Given the description of an element on the screen output the (x, y) to click on. 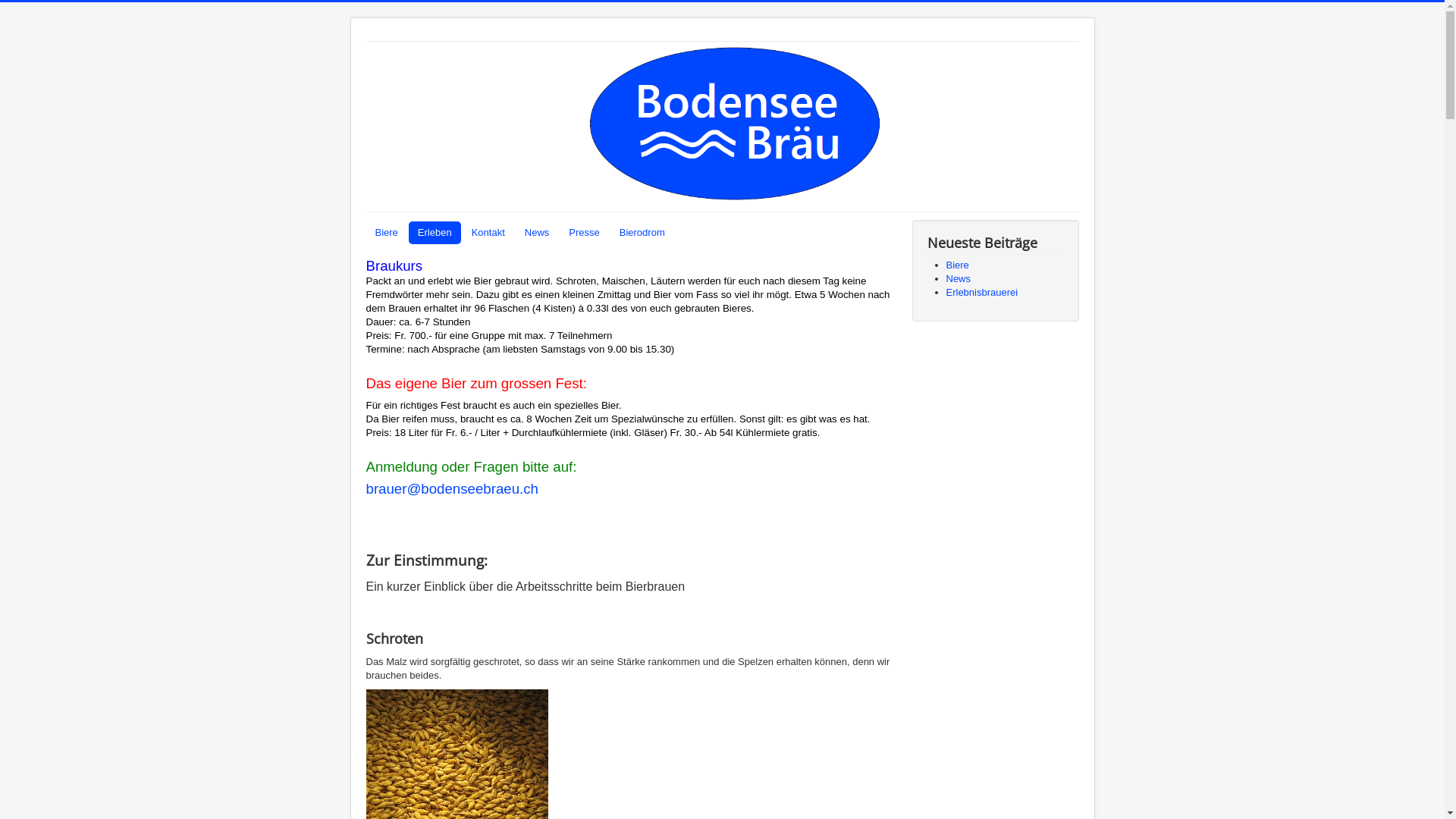
News Element type: text (958, 278)
Erleben Element type: text (434, 232)
Presse Element type: text (583, 232)
Erlebnisbrauerei Element type: text (982, 292)
Biere Element type: text (385, 232)
Bierodrom Element type: text (642, 232)
Kontakt Element type: text (488, 232)
Biere Element type: text (957, 264)
brauer@bodenseebraeu.ch Element type: text (451, 488)
News Element type: text (536, 232)
